Given the description of an element on the screen output the (x, y) to click on. 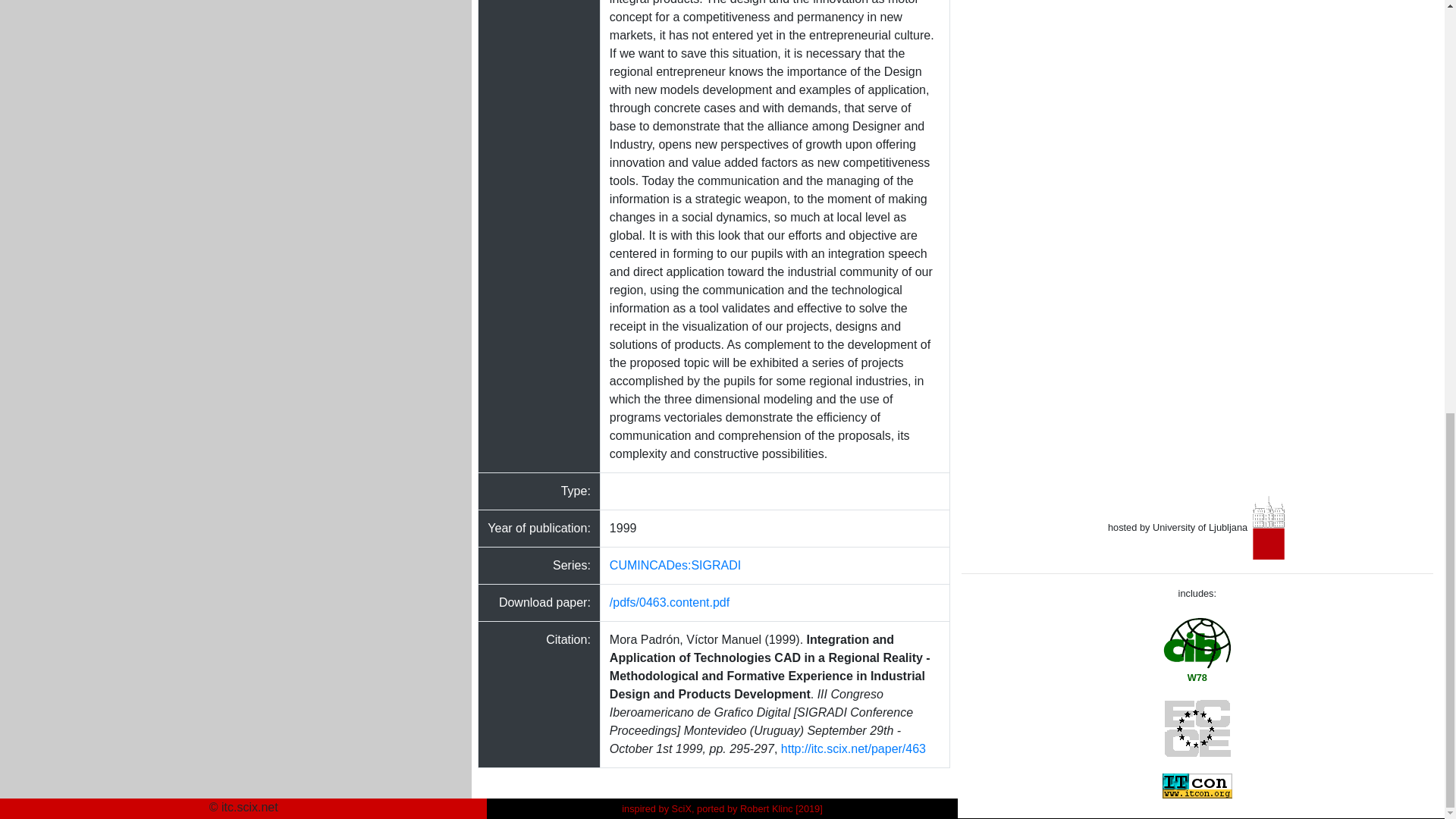
CUMINCADes:SIGRADI (675, 564)
